Given the description of an element on the screen output the (x, y) to click on. 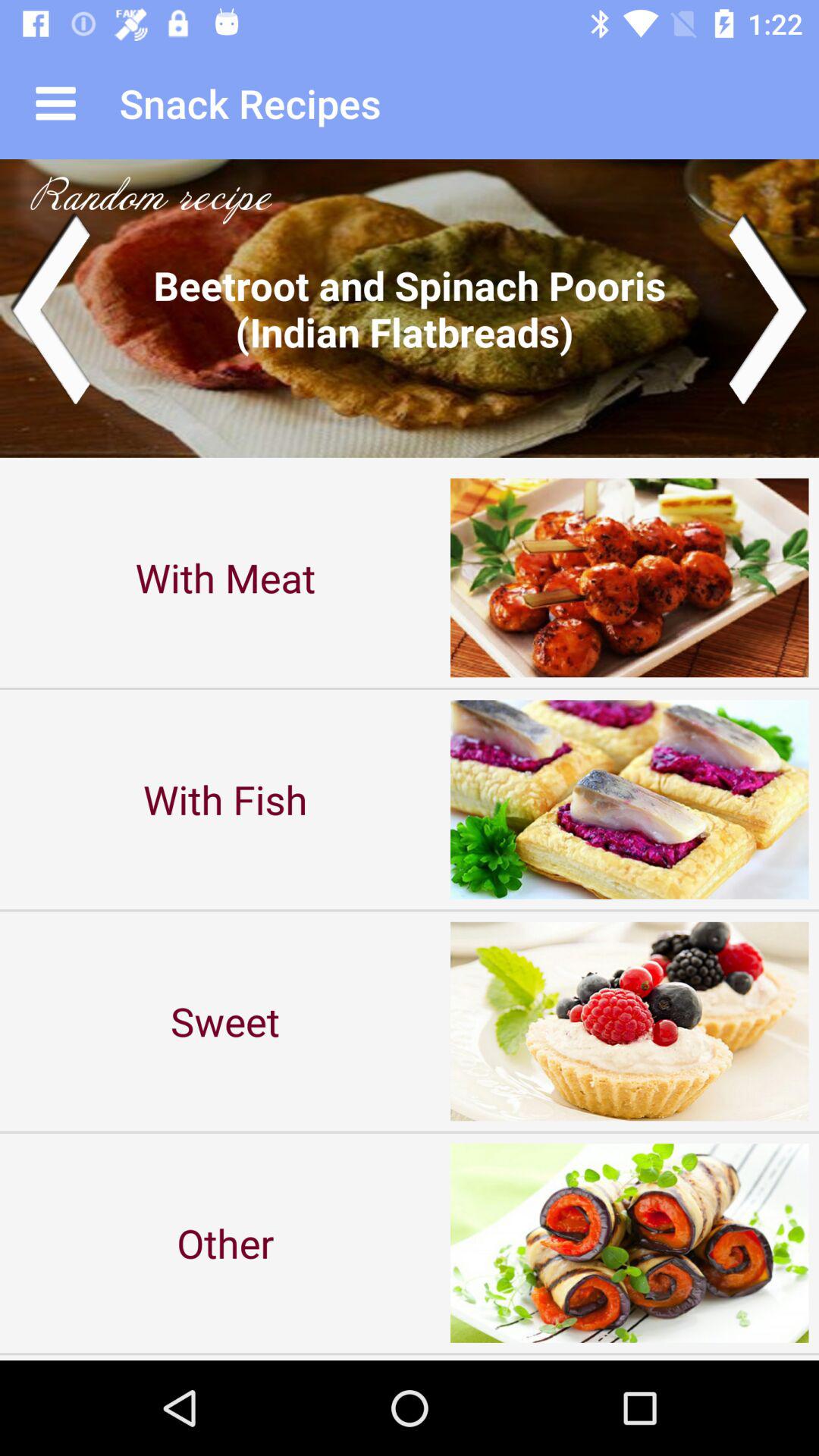
press item above the sweet icon (225, 798)
